Given the description of an element on the screen output the (x, y) to click on. 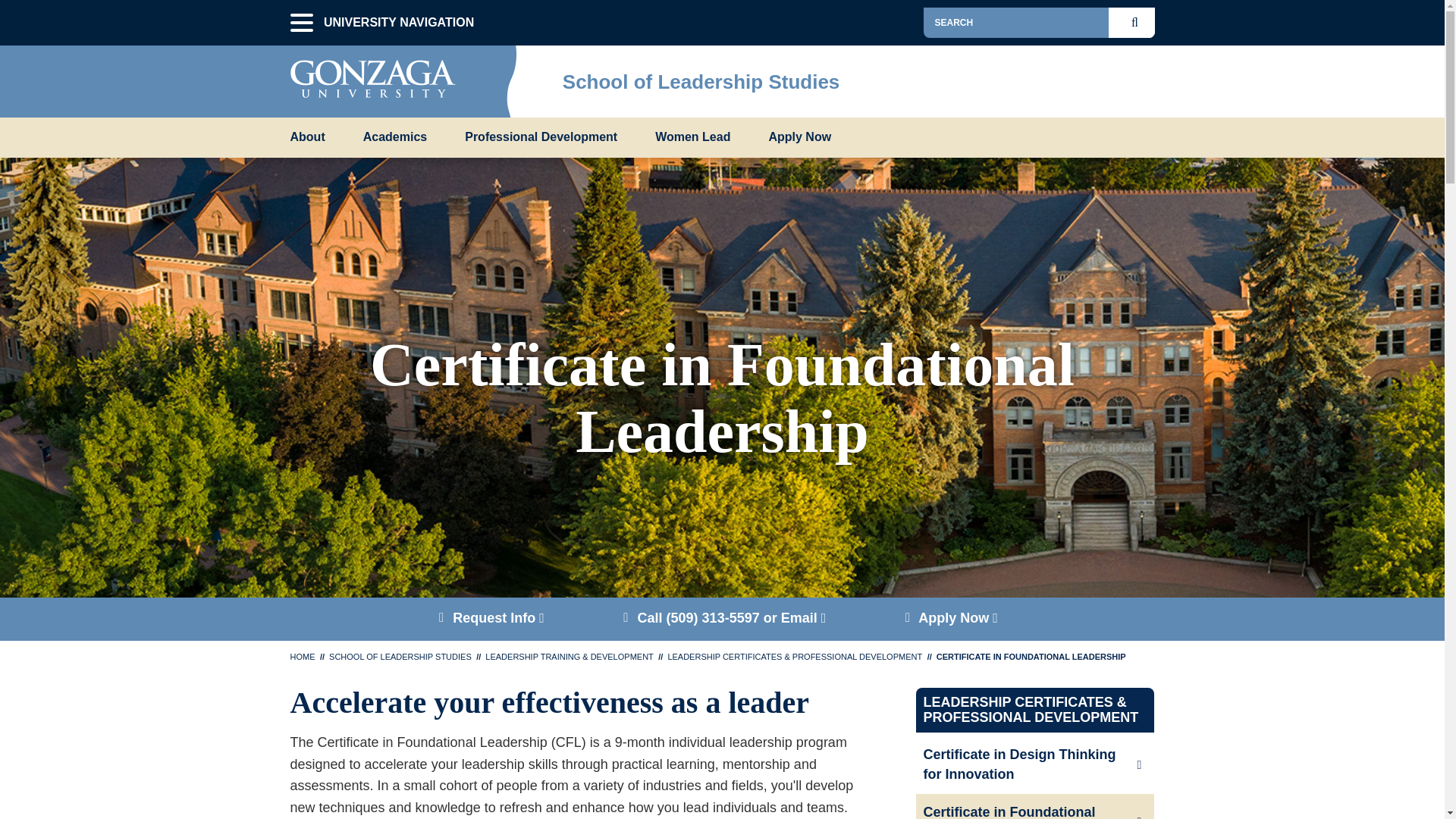
Toggle Menu (1142, 77)
UNIVERSITY NAVIGATION (301, 22)
School of Leadership Studies (701, 81)
SEARCH BUTTON (1137, 22)
